Given the description of an element on the screen output the (x, y) to click on. 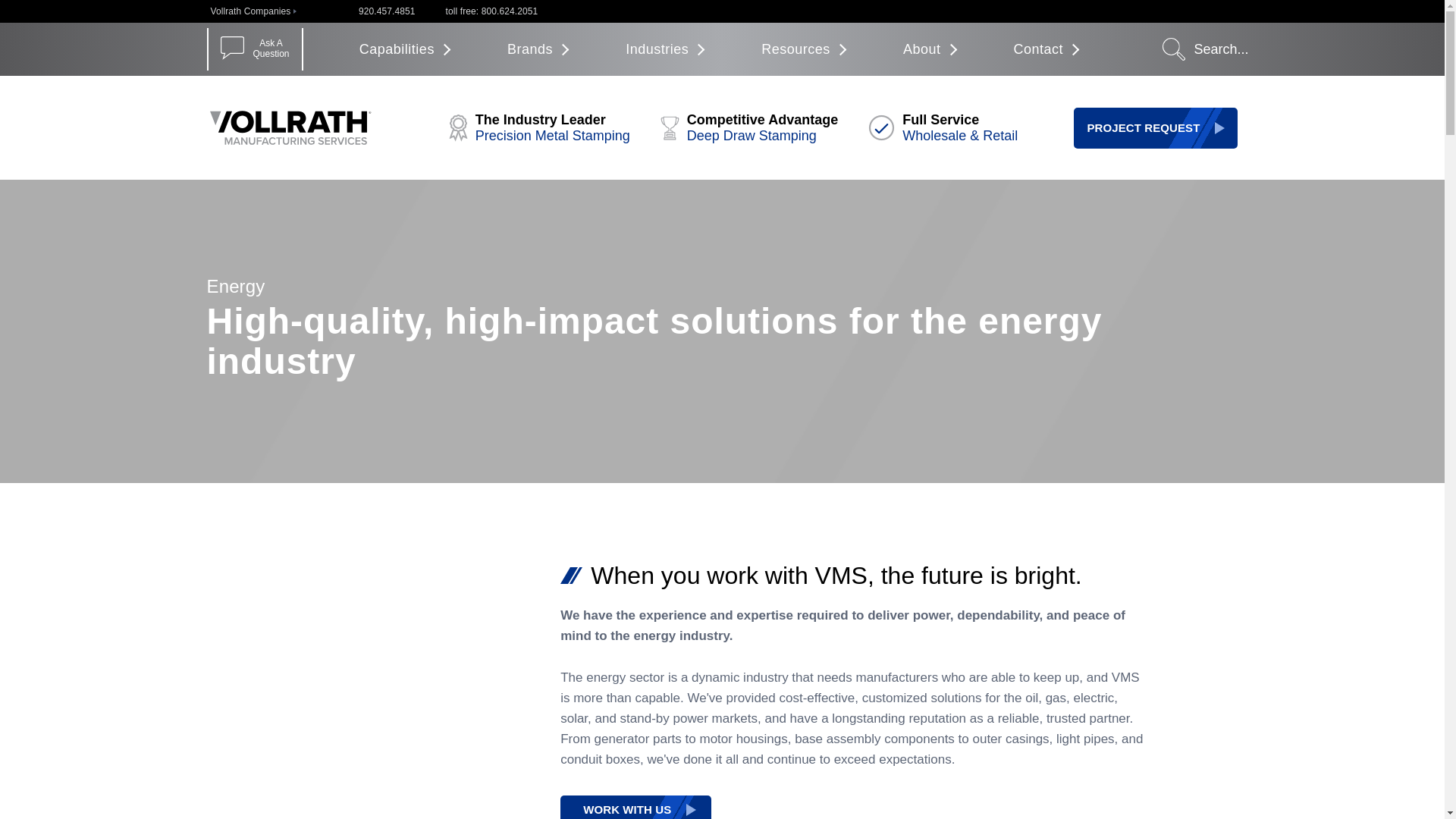
Brands (535, 48)
Industries (254, 48)
toll free: 800.624.2051 (662, 48)
920.457.4851 (491, 11)
Consumer (387, 11)
Capabilities (881, 127)
